Given the description of an element on the screen output the (x, y) to click on. 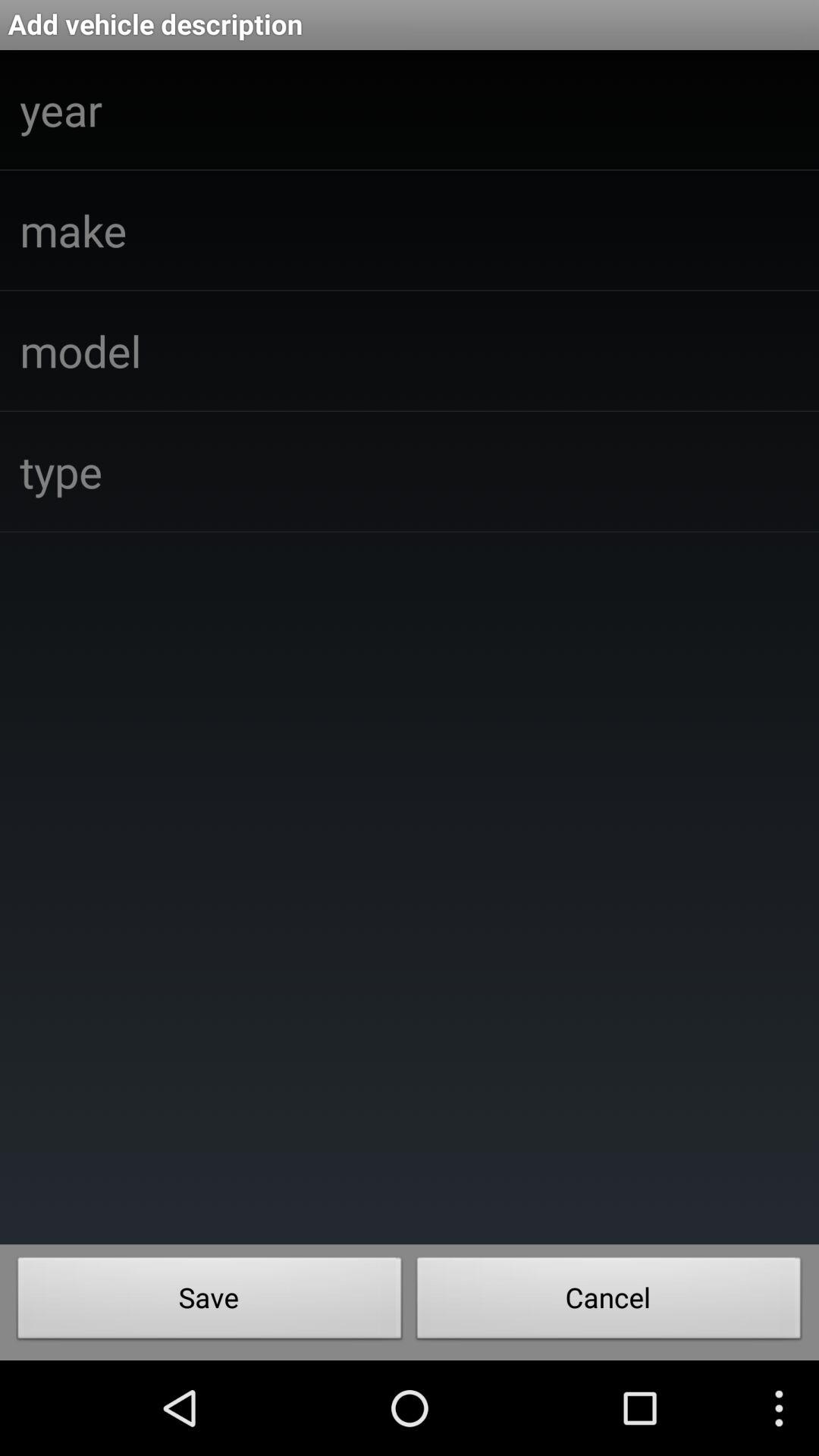
select icon at the bottom left corner (209, 1302)
